Given the description of an element on the screen output the (x, y) to click on. 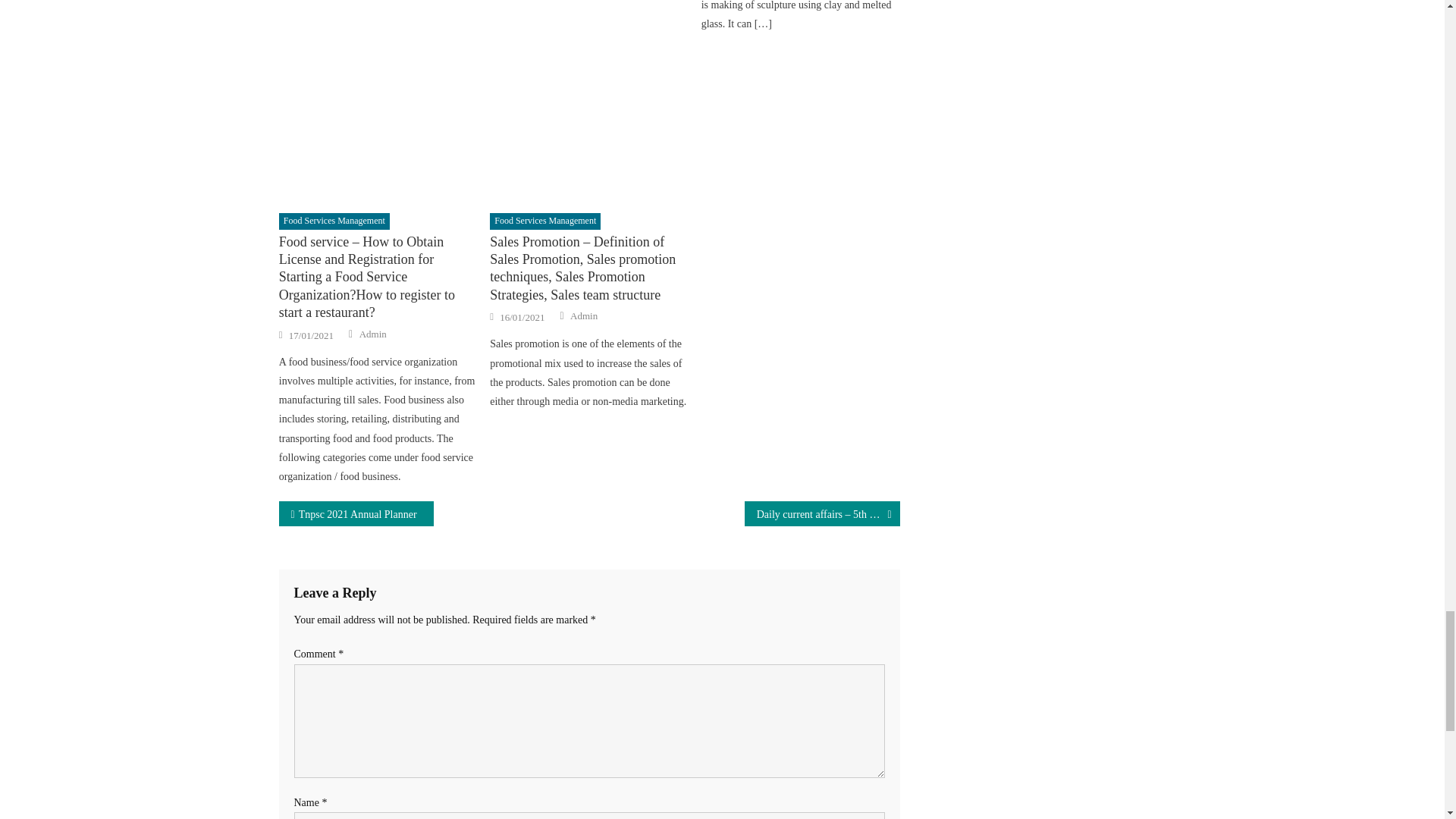
Food Services Management (544, 221)
Food Services Management (334, 221)
Tnpsc 2021 Annual Planner (356, 513)
Admin (583, 315)
Admin (373, 334)
